Given the description of an element on the screen output the (x, y) to click on. 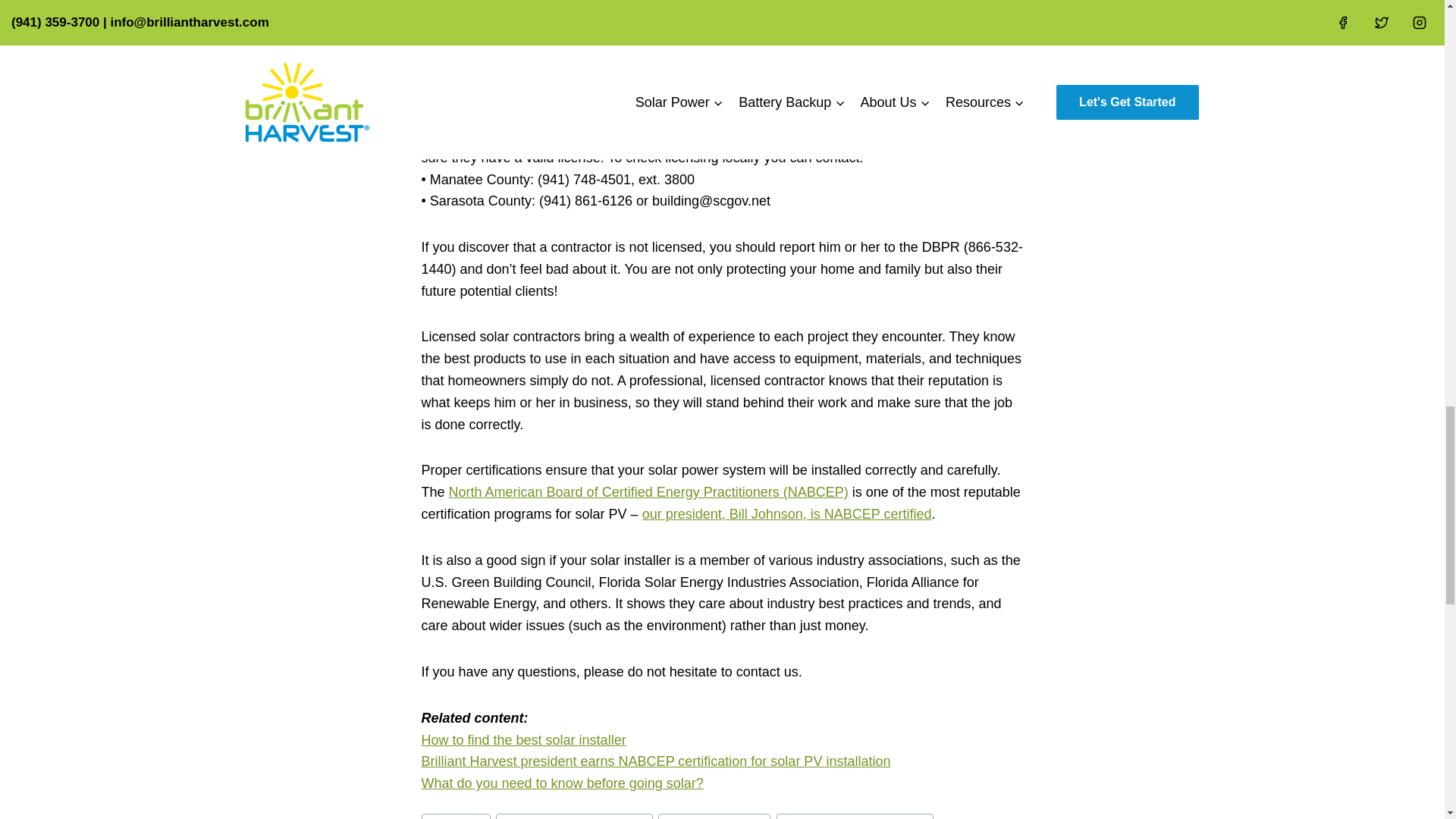
licensed contractor (714, 816)
contractor (456, 816)
florida unlicensed contractor (574, 816)
sarasota licensed contractor (854, 816)
